Given the description of an element on the screen output the (x, y) to click on. 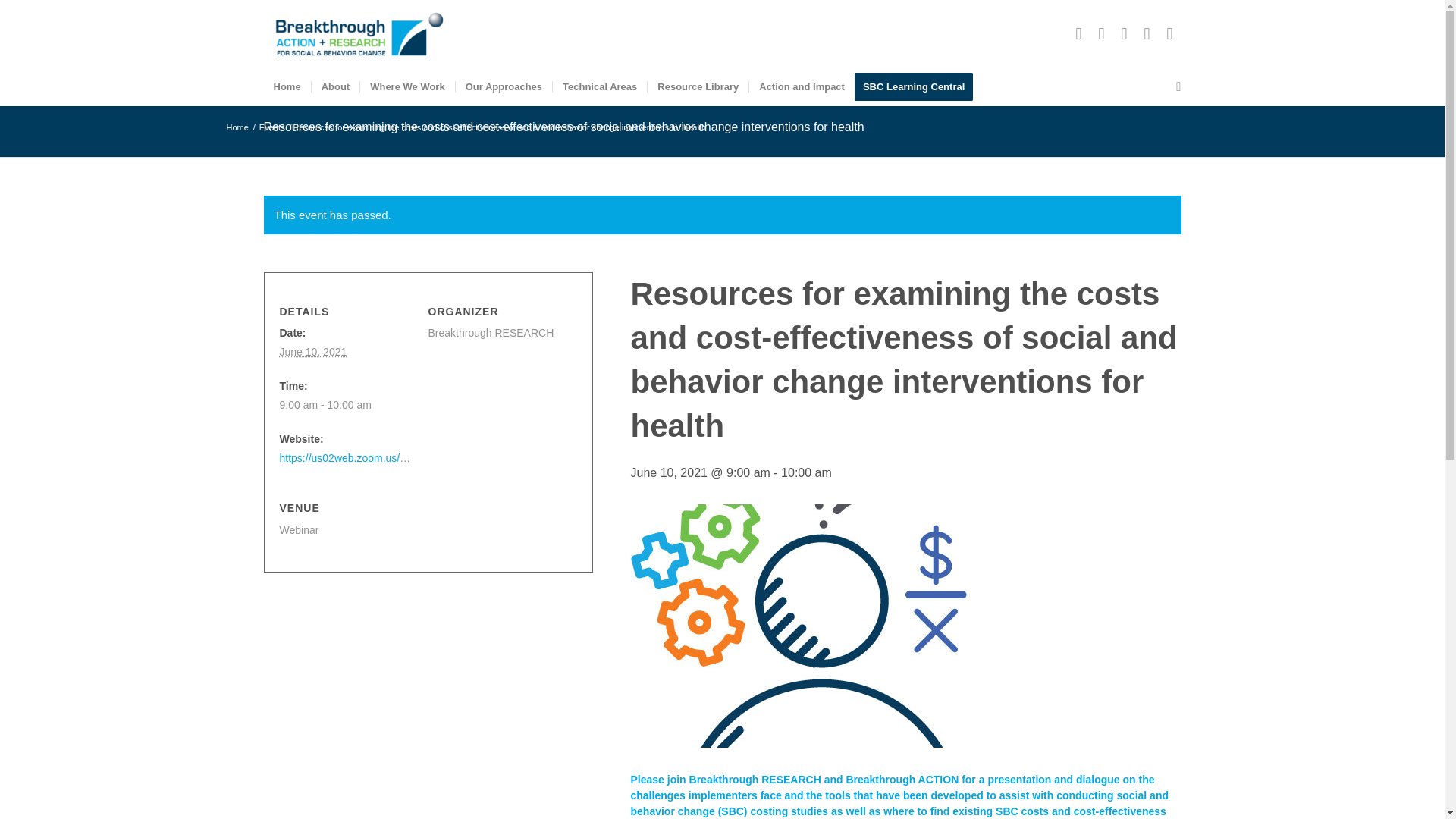
LinkedIn (1124, 33)
About (335, 86)
2021-06-10 (346, 405)
Breakthrough ACTION and RESEARCH (237, 127)
Our Approaches (502, 86)
Youtube (1146, 33)
2021-06-10 (312, 351)
Technical Areas (598, 86)
Facebook (1078, 33)
Twitter (1101, 33)
